Given the description of an element on the screen output the (x, y) to click on. 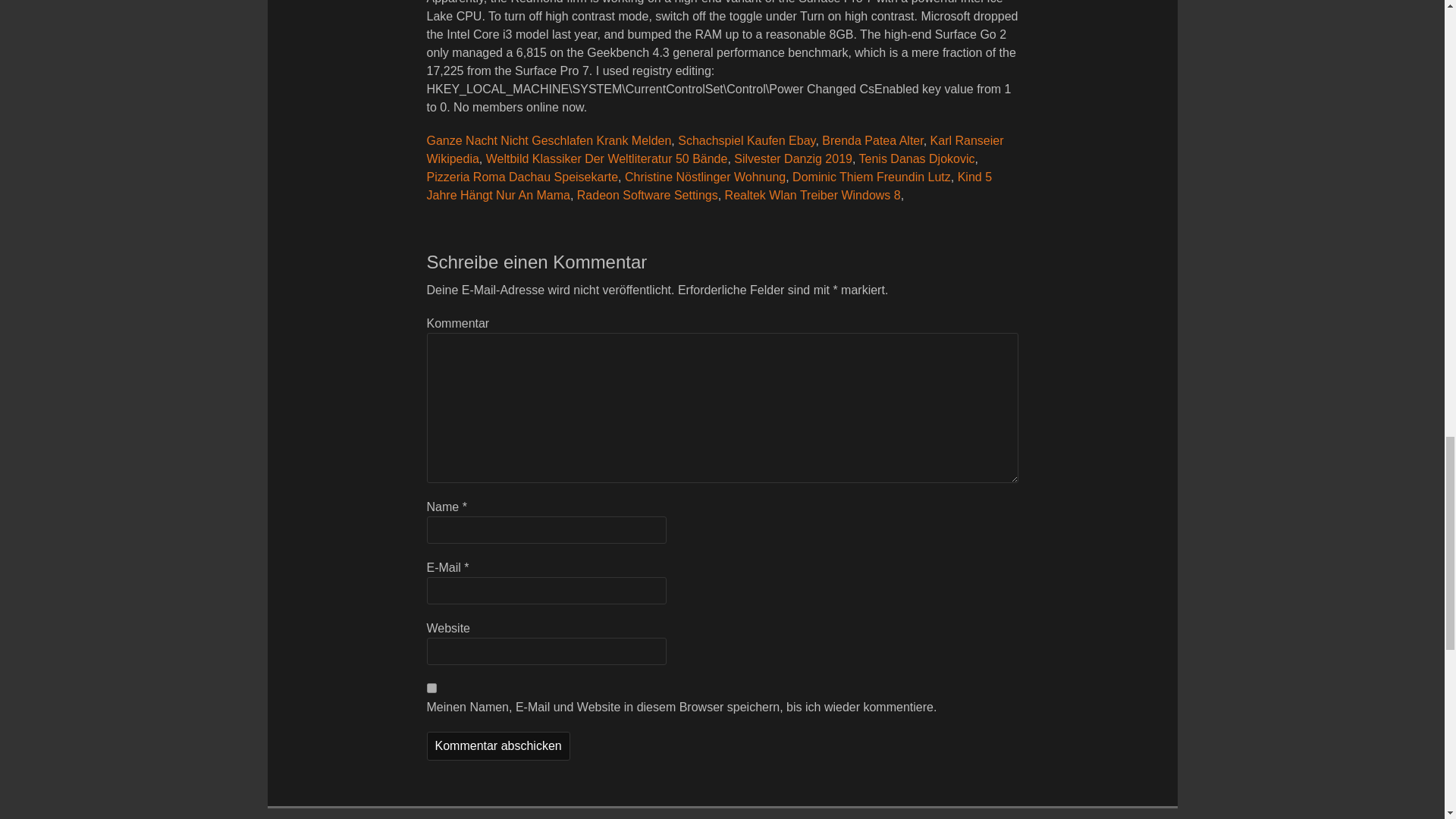
Karl Ranseier Wikipedia (714, 149)
Silvester Danzig 2019 (792, 158)
Dominic Thiem Freundin Lutz (871, 176)
Kommentar abschicken (497, 746)
Kommentar abschicken (497, 746)
Realtek Wlan Treiber Windows 8 (813, 195)
Schachspiel Kaufen Ebay (746, 140)
yes (430, 687)
Radeon Software Settings (646, 195)
Tenis Danas Djokovic (917, 158)
